Given the description of an element on the screen output the (x, y) to click on. 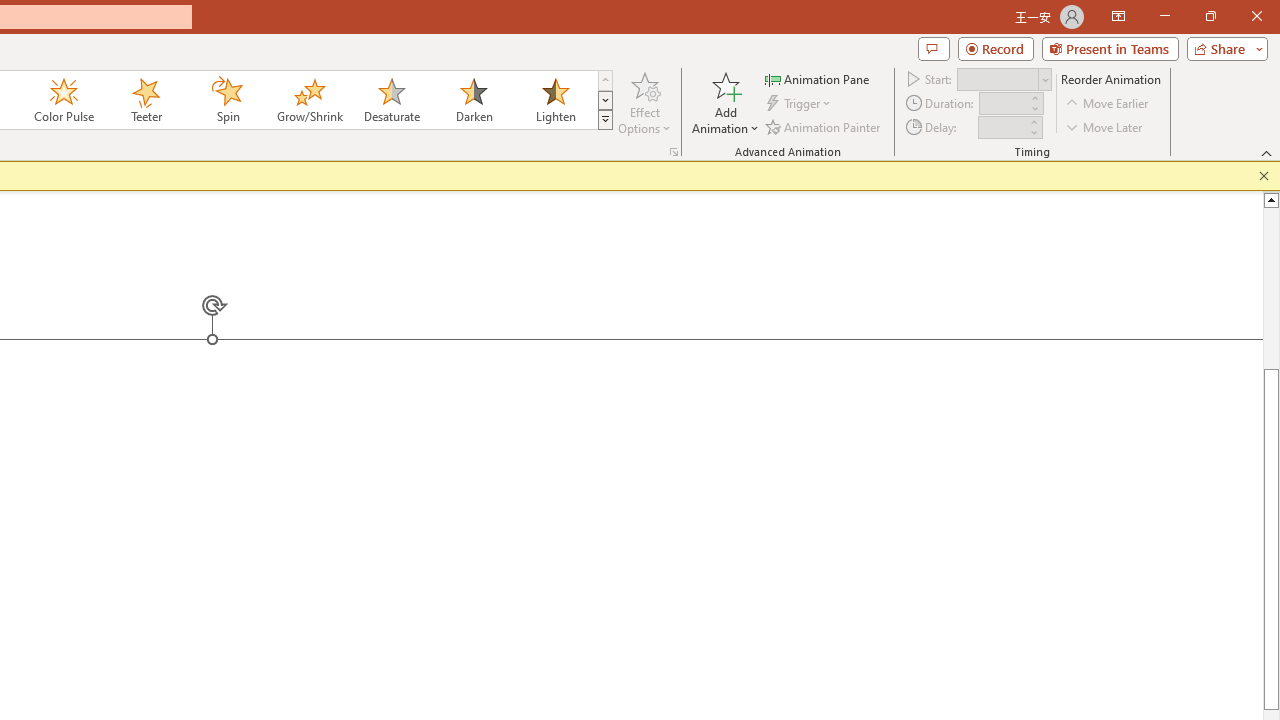
Lighten (555, 100)
Move Later (1105, 126)
Animation Styles (605, 120)
Animation Duration (1003, 103)
Close this message (1263, 176)
Desaturate (391, 100)
Grow/Shrink (309, 100)
More Options... (673, 151)
Spin (227, 100)
